Given the description of an element on the screen output the (x, y) to click on. 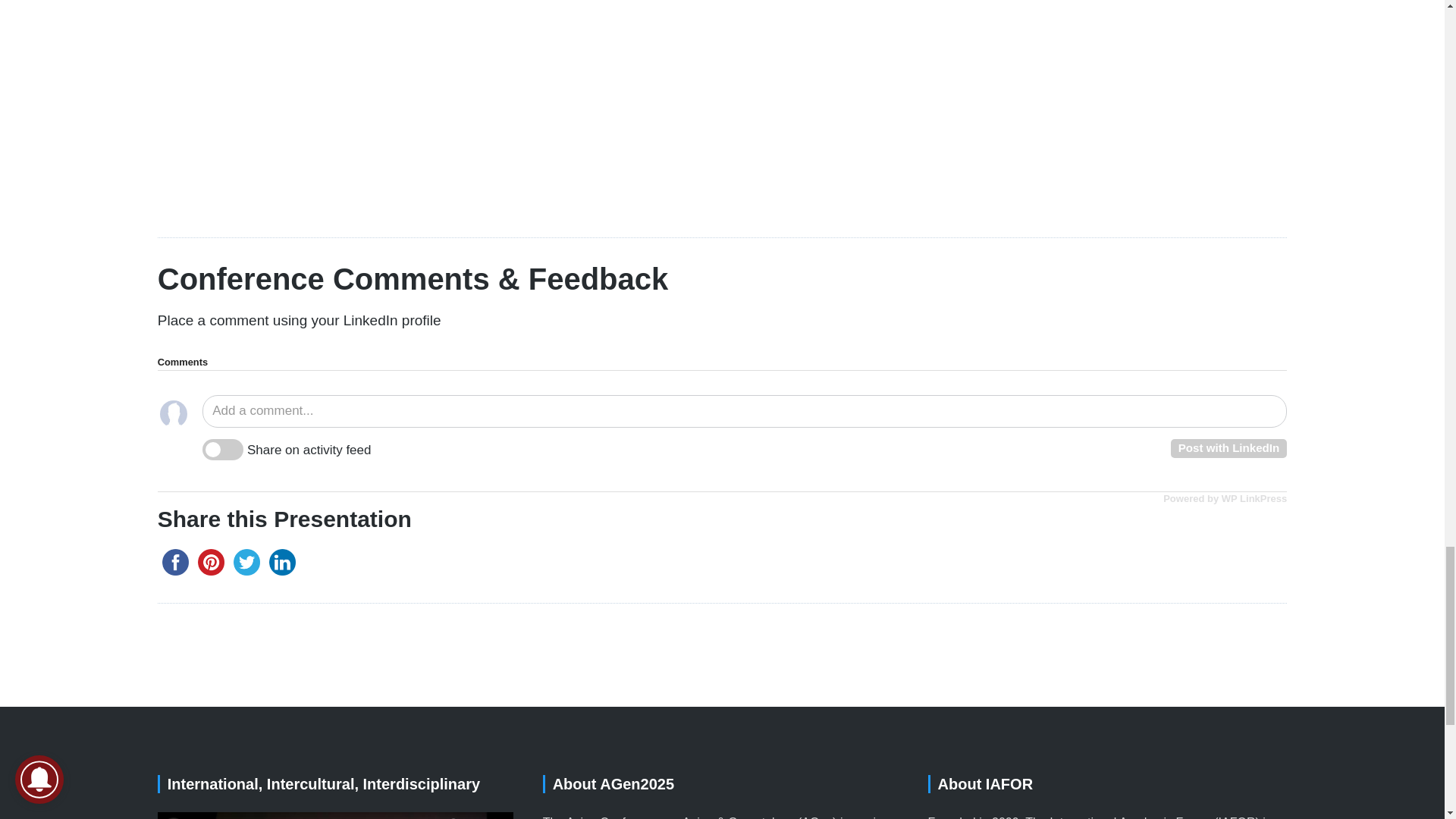
facebook (175, 561)
twitter (246, 561)
pinterest (210, 561)
linkedin (281, 561)
